Given the description of an element on the screen output the (x, y) to click on. 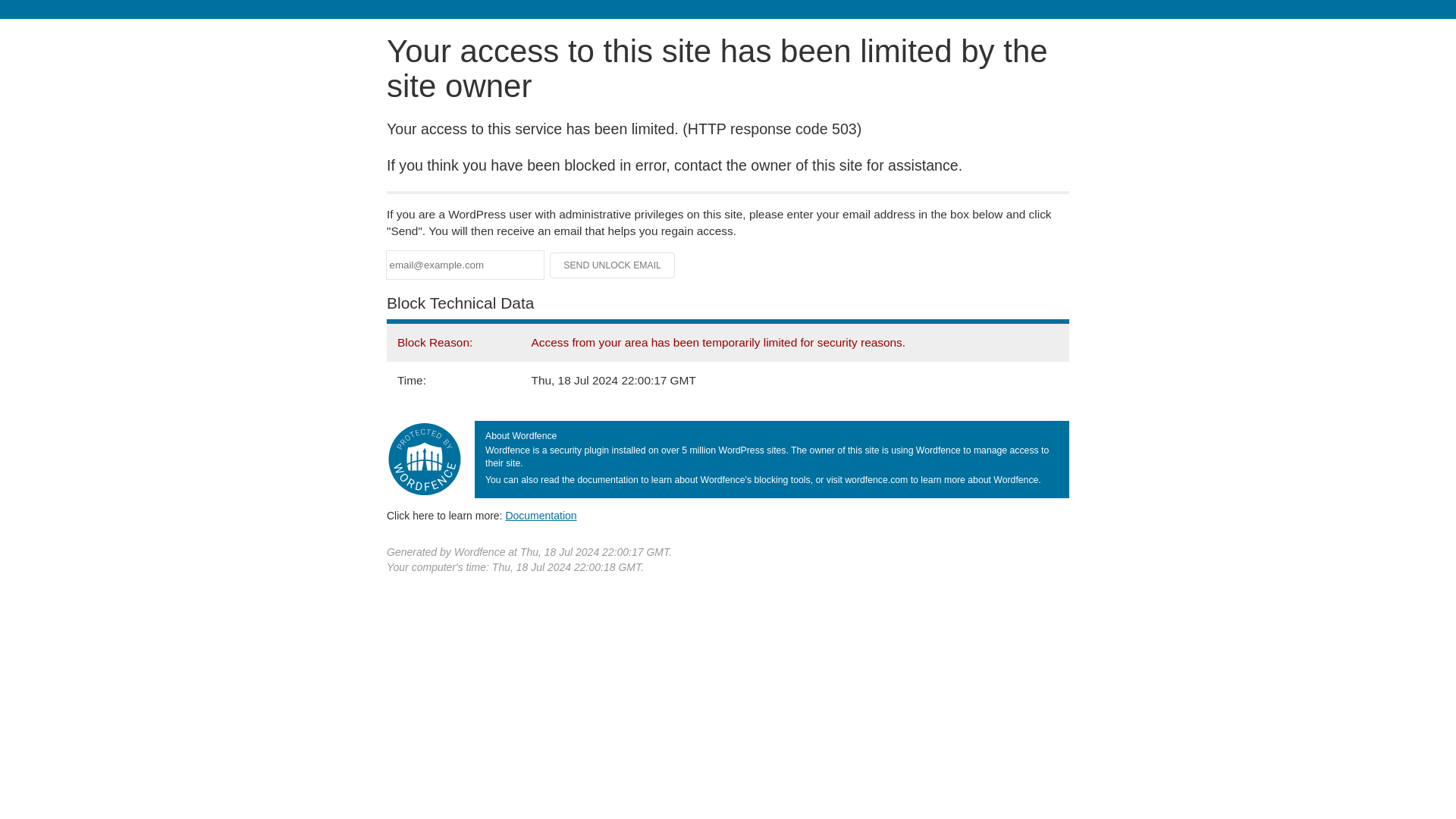
Send Unlock Email (612, 265)
Documentation (540, 515)
Send Unlock Email (612, 265)
